Given the description of an element on the screen output the (x, y) to click on. 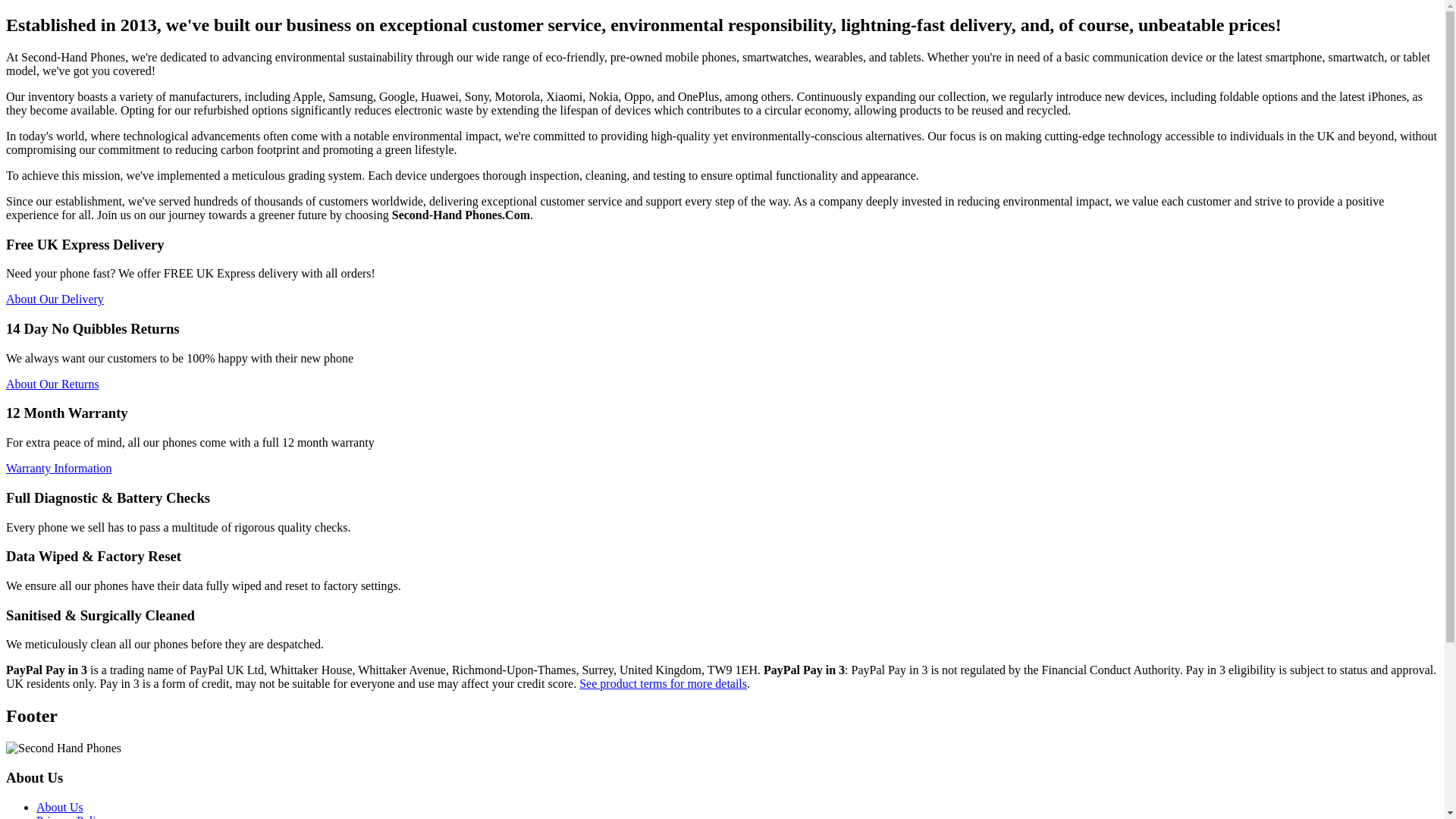
See product terms for more details (662, 683)
About Our Delivery (54, 298)
About Our Returns (52, 383)
About Us (59, 807)
Warranty Information (58, 468)
Privacy Policy (71, 816)
